Given the description of an element on the screen output the (x, y) to click on. 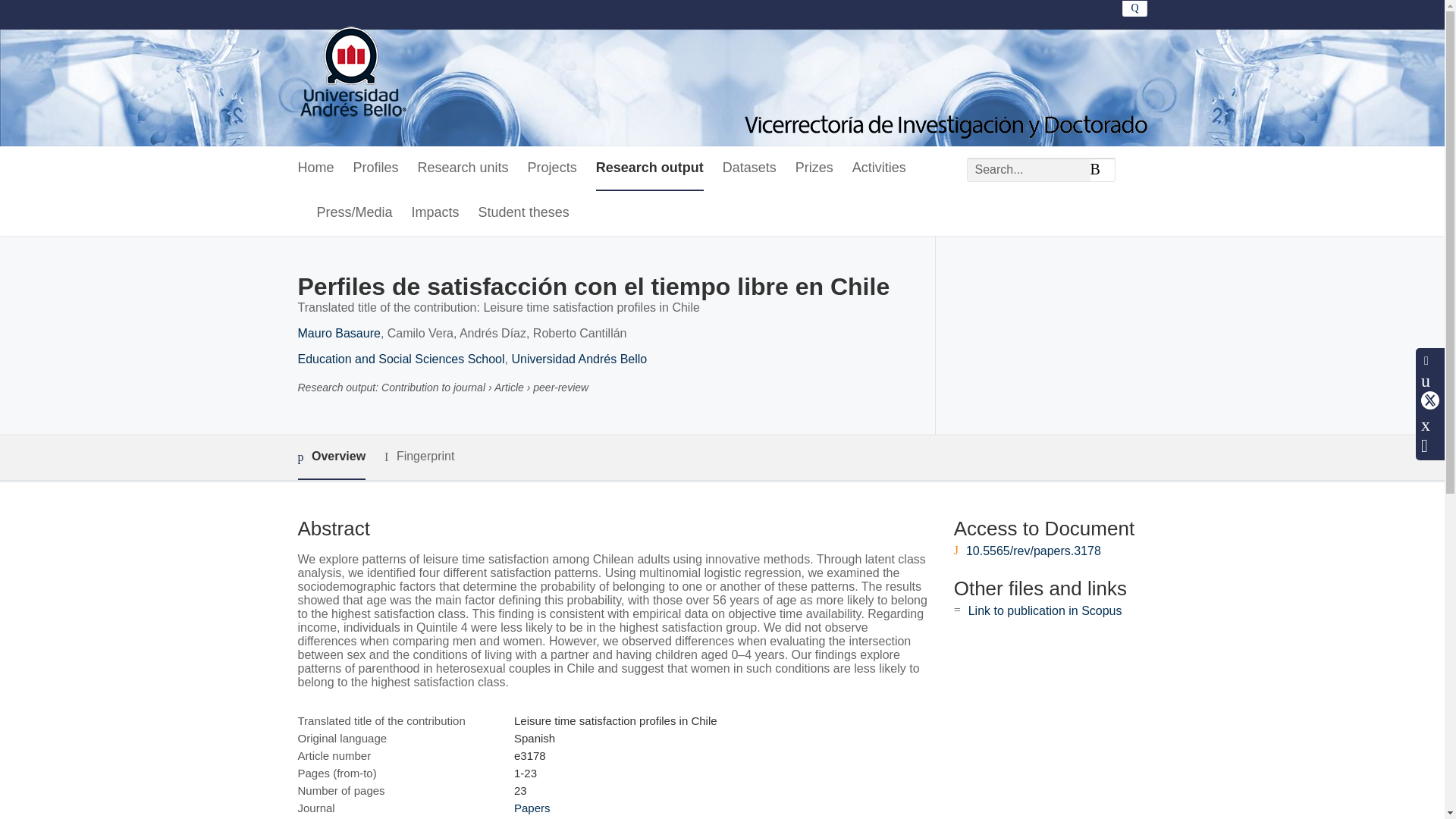
Mauro Basaure (338, 332)
Education and Social Sciences School (400, 358)
Link to publication in Scopus (1045, 610)
Activities (878, 168)
Overview (331, 456)
Impacts (436, 212)
Student theses (524, 212)
Papers (531, 807)
Profiles (375, 168)
Research output (649, 168)
